Given the description of an element on the screen output the (x, y) to click on. 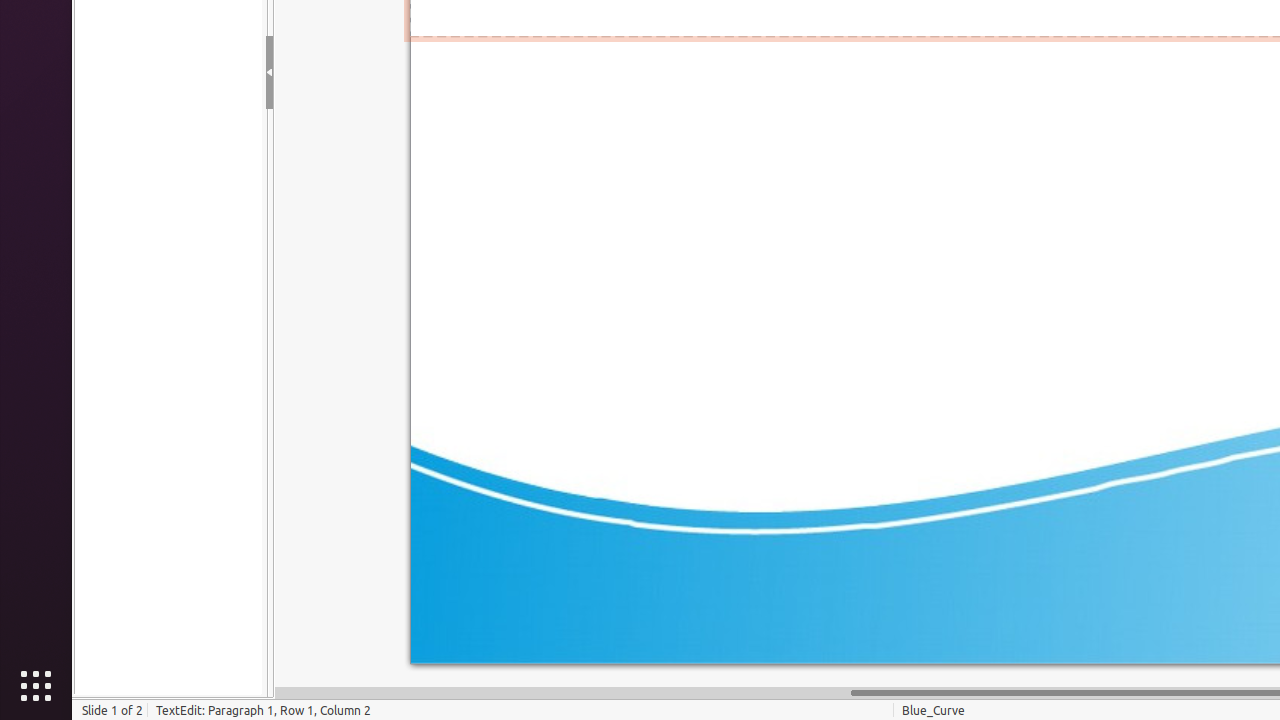
Show Applications Element type: toggle-button (36, 686)
